Given the description of an element on the screen output the (x, y) to click on. 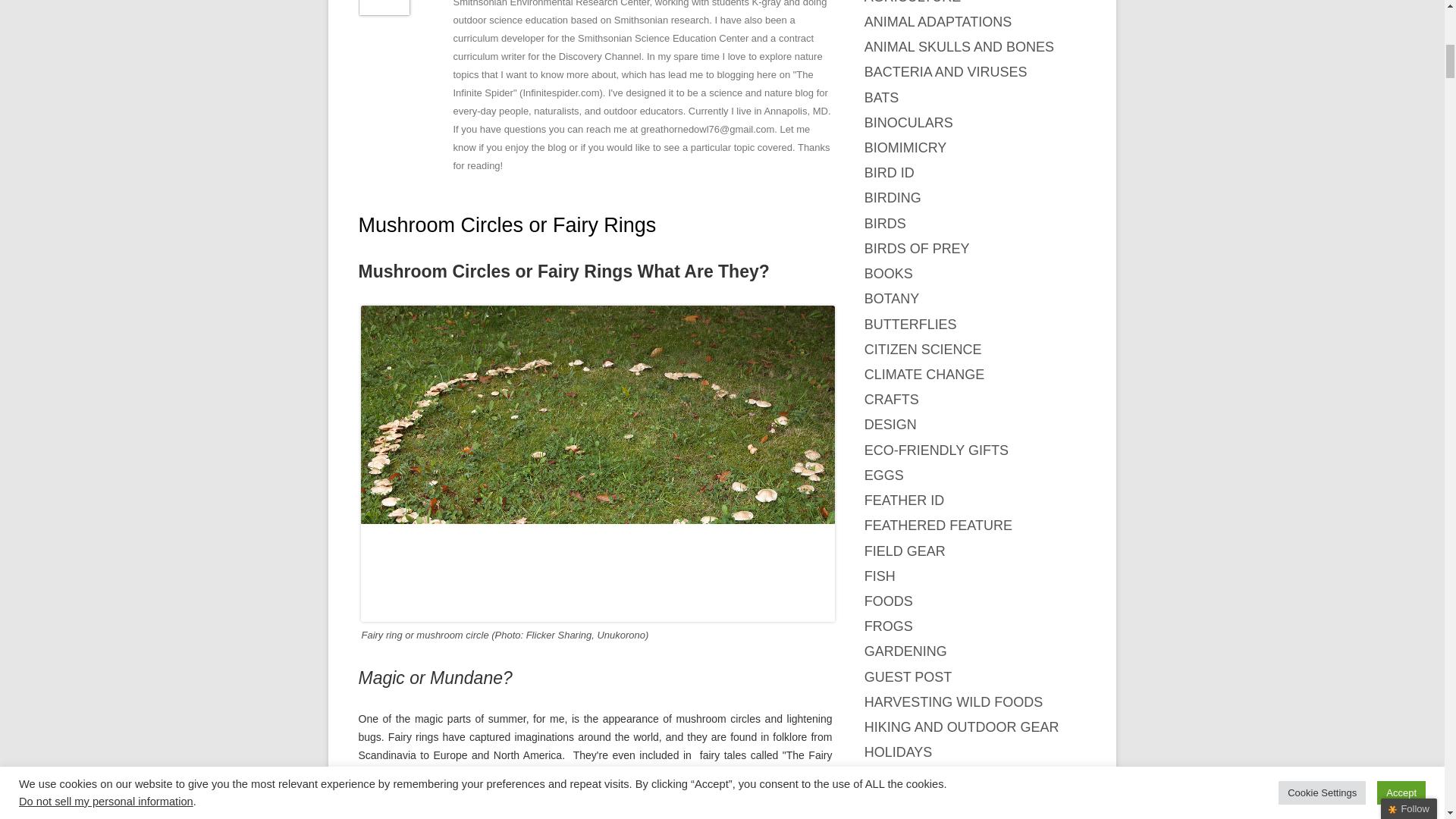
Enter email address (1348, 125)
Sign me up! (1350, 152)
Mushroom Circles or Fairy Rings (507, 224)
